Given the description of an element on the screen output the (x, y) to click on. 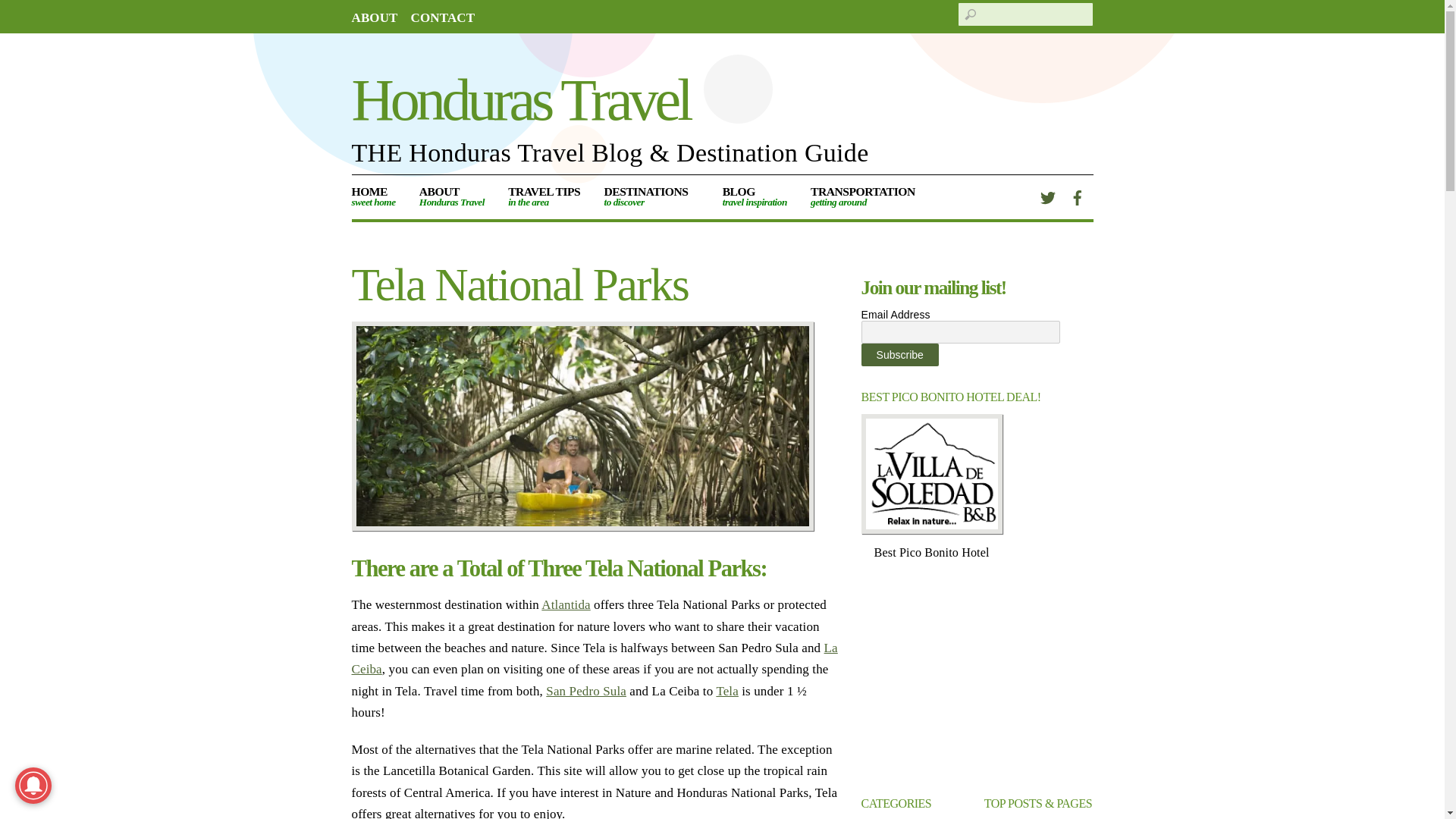
Advertisement (977, 678)
sweet home (379, 197)
ABOUT (374, 17)
Tela National Parks (582, 425)
travel inspiration (753, 197)
in the area (544, 197)
getting around (867, 197)
Subscribe (900, 354)
CONTACT (443, 17)
to discover (651, 197)
Honduras Travel (651, 197)
Honduras Travel (521, 99)
